Given the description of an element on the screen output the (x, y) to click on. 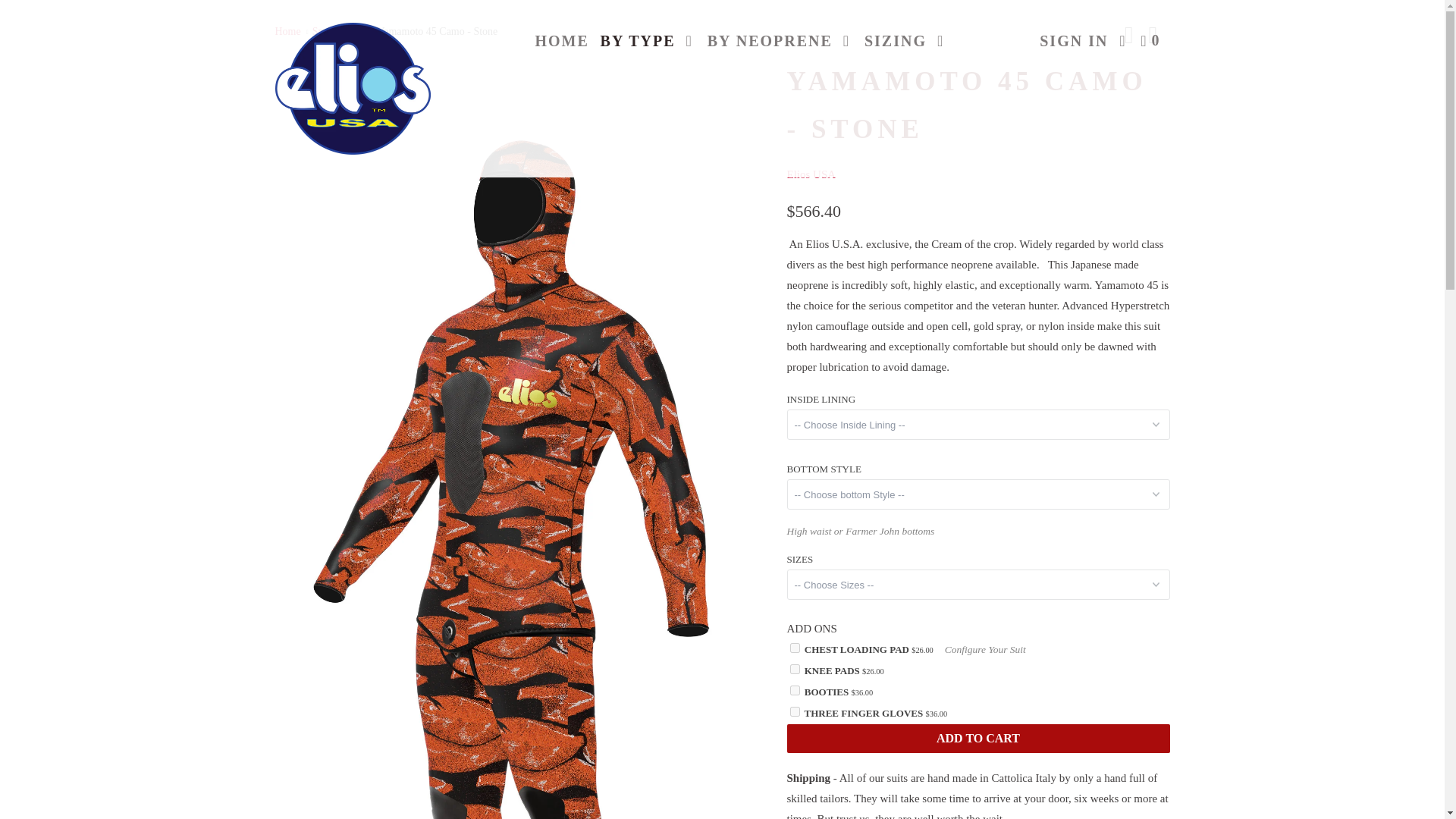
Three Finger Gloves (794, 711)
Knee Pads (794, 669)
Elios USA (287, 30)
BY TYPE   (647, 40)
My Account  (1073, 40)
SIGN IN (1073, 40)
BY NEOPRENE   (780, 40)
0 (1151, 40)
HOME (561, 40)
Elios USA (811, 174)
Booties (794, 690)
Spearfishing (339, 30)
Chest Loading Pad  (794, 647)
Elios USA (352, 88)
